Given the description of an element on the screen output the (x, y) to click on. 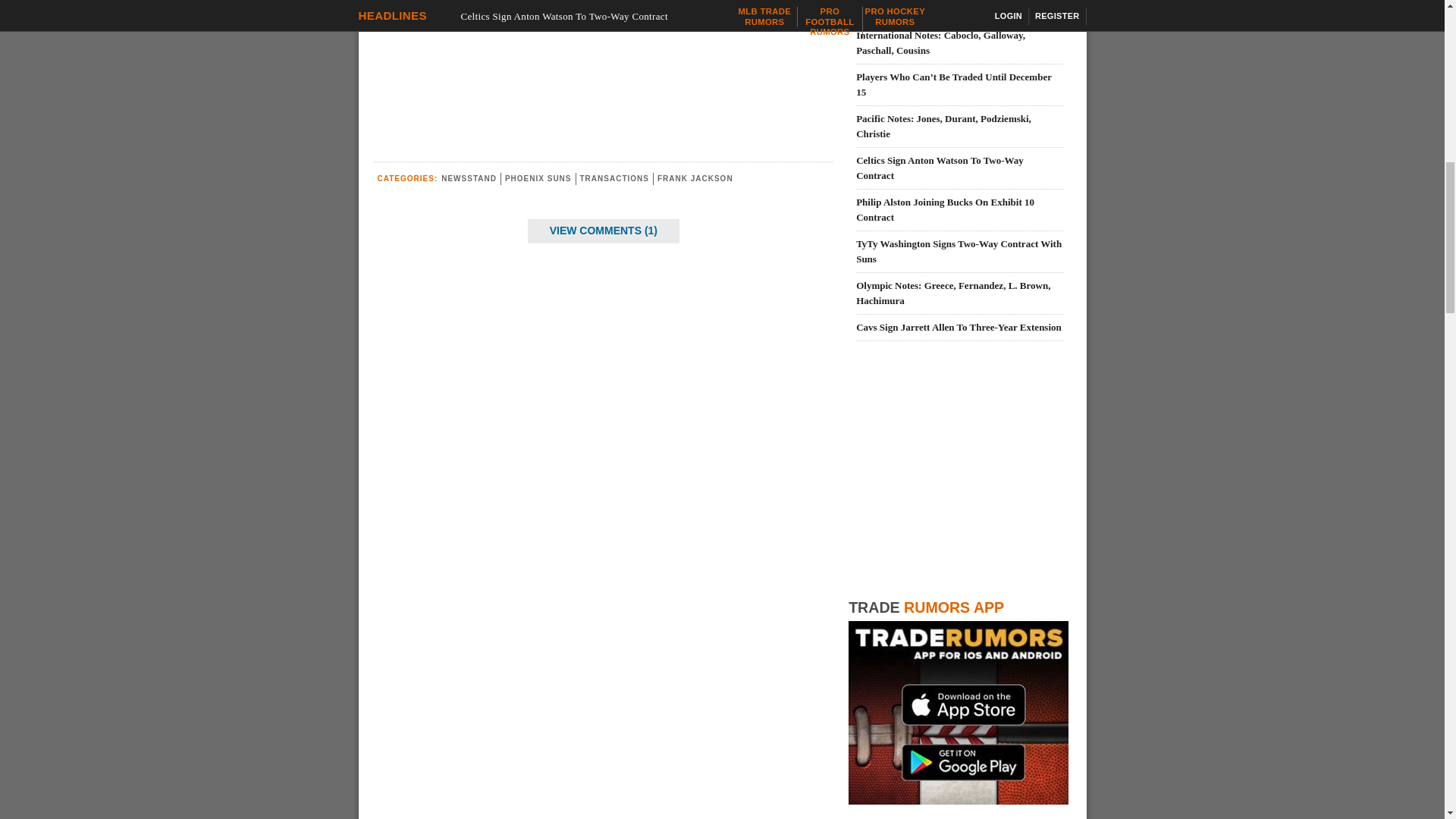
View all posts in Frank Jackson (695, 178)
View all posts in Newsstand (468, 178)
View all posts in Transactions (613, 178)
View all posts in Phoenix Suns (538, 178)
